Given the description of an element on the screen output the (x, y) to click on. 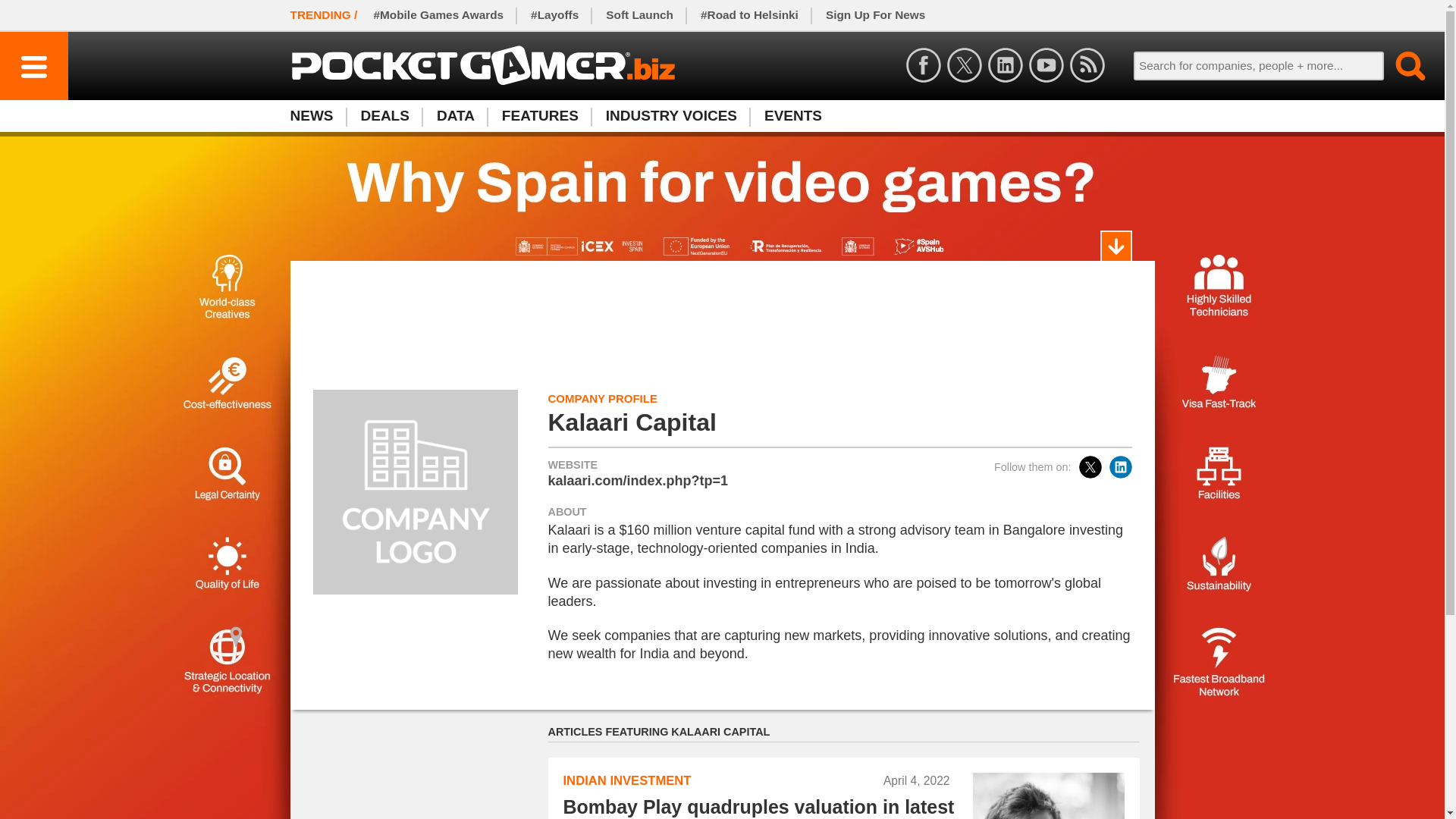
Go (1402, 65)
DEALS (385, 115)
INDUSTRY VOICES (671, 115)
Sign Up For News (875, 15)
DATA (455, 115)
NEWS (317, 115)
3rd party ad content (721, 115)
Go (418, 779)
FEATURES (1402, 65)
